Given the description of an element on the screen output the (x, y) to click on. 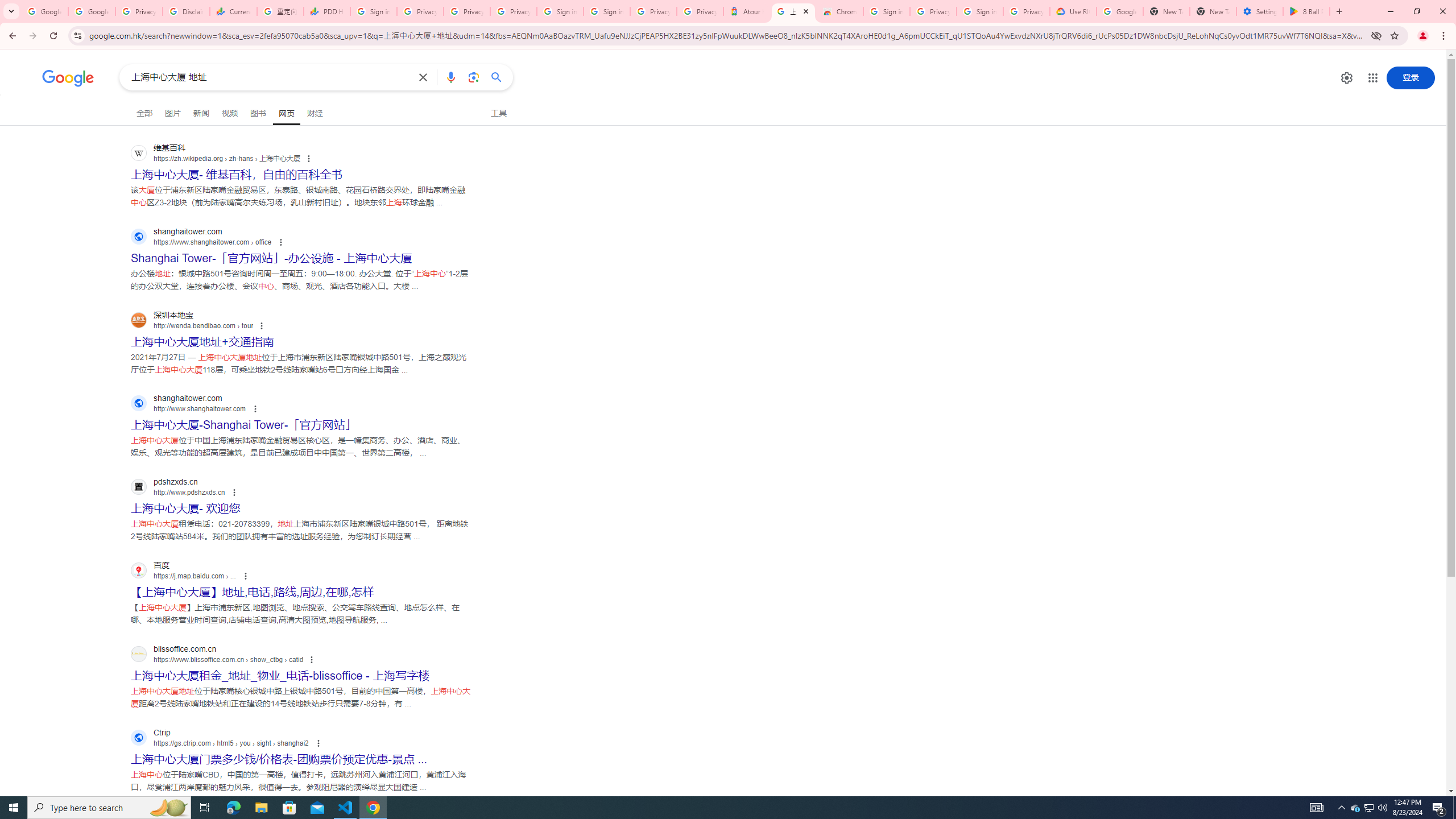
8 Ball Pool - Apps on Google Play (1306, 11)
Settings - System (1259, 11)
Google Workspace Admin Community (44, 11)
Privacy Checkup (512, 11)
